Given the description of an element on the screen output the (x, y) to click on. 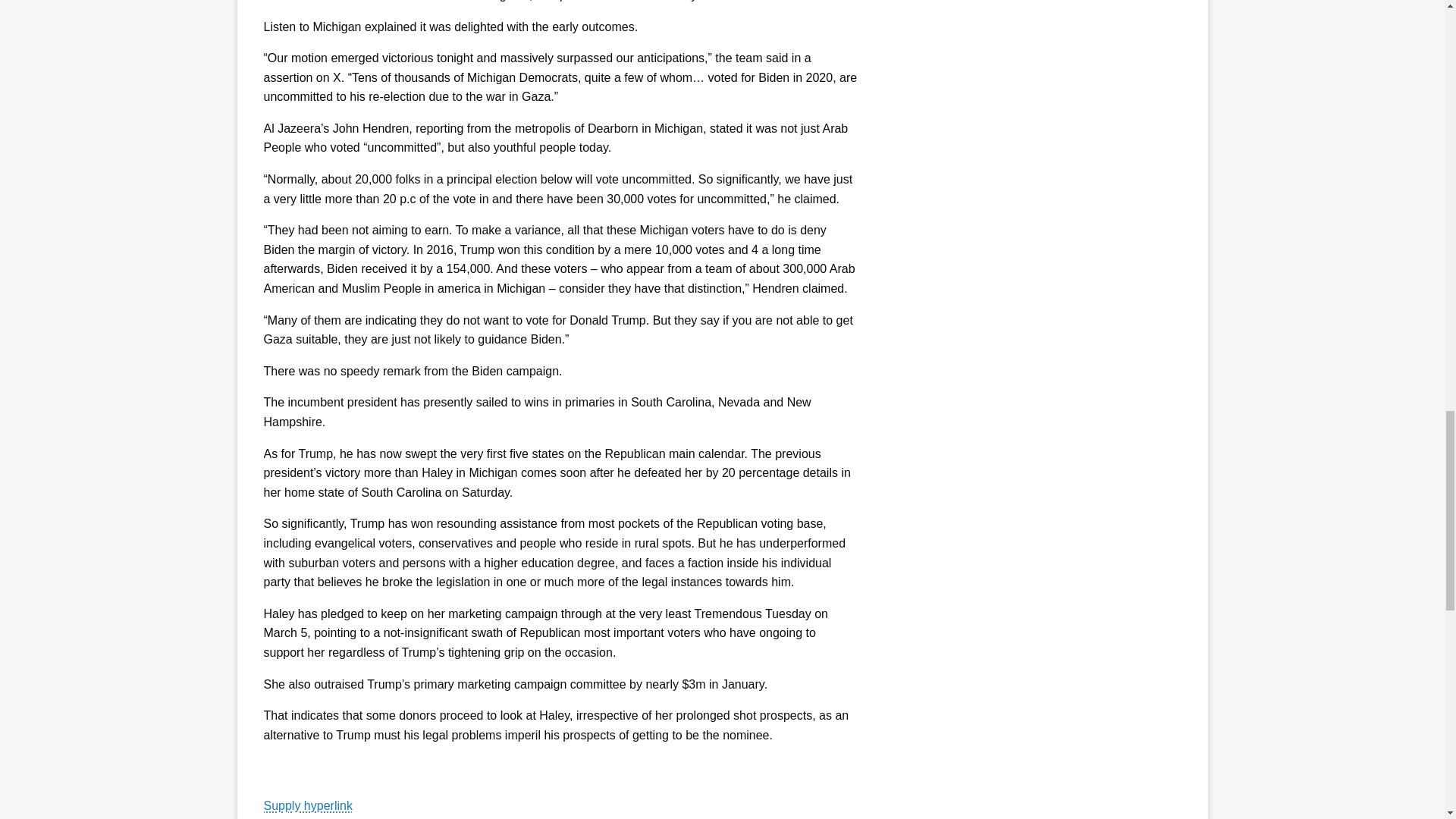
Supply hyperlink (307, 805)
